Given the description of an element on the screen output the (x, y) to click on. 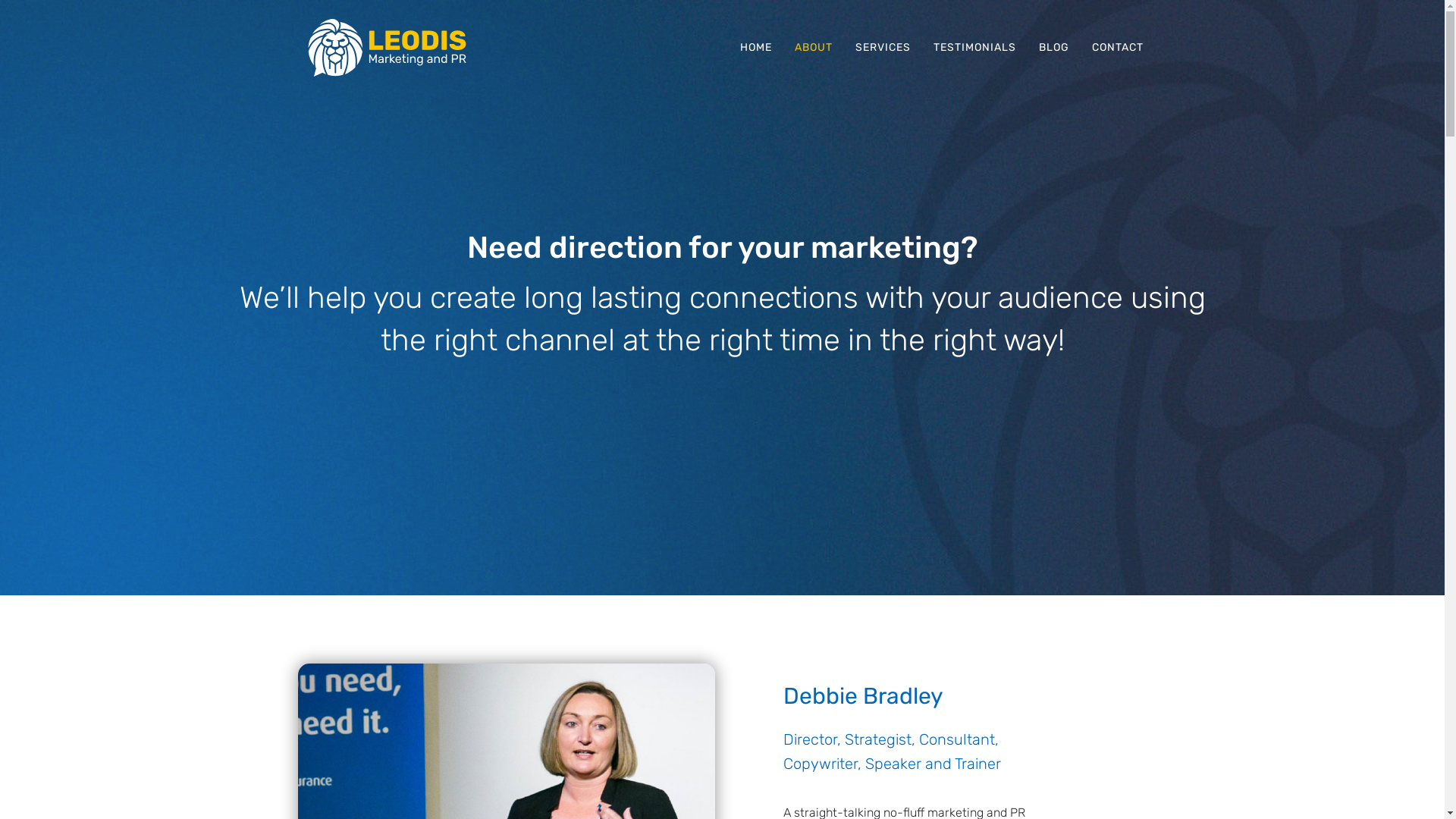
BLOG Element type: text (1053, 47)
ABOUT Element type: text (812, 47)
TESTIMONIALS Element type: text (974, 47)
HOME Element type: text (755, 47)
SERVICES Element type: text (881, 47)
CONTACT Element type: text (1116, 47)
